Given the description of an element on the screen output the (x, y) to click on. 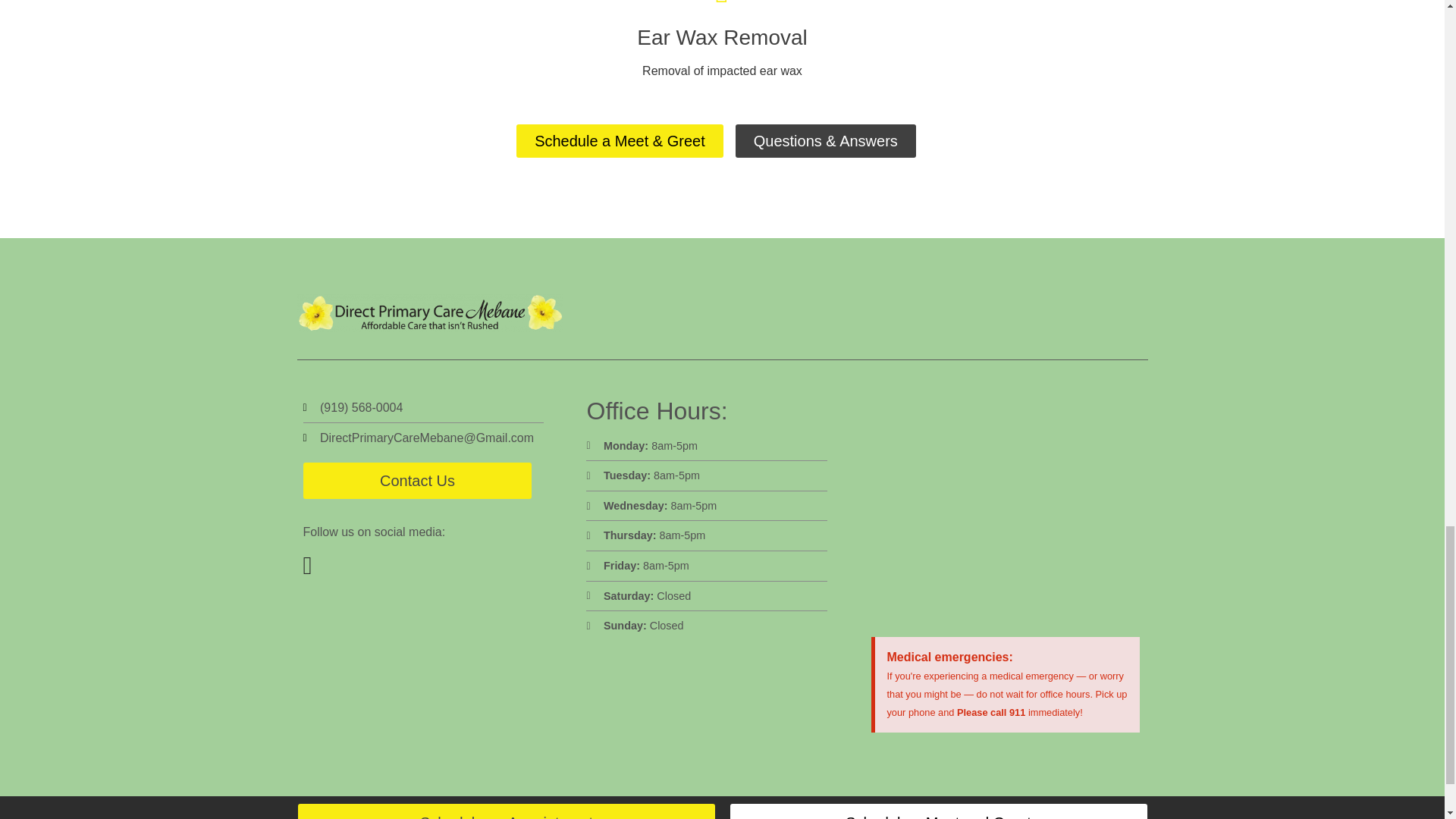
302 W. Graham Street, Mebane, NC 27302 (1005, 507)
